Given the description of an element on the screen output the (x, y) to click on. 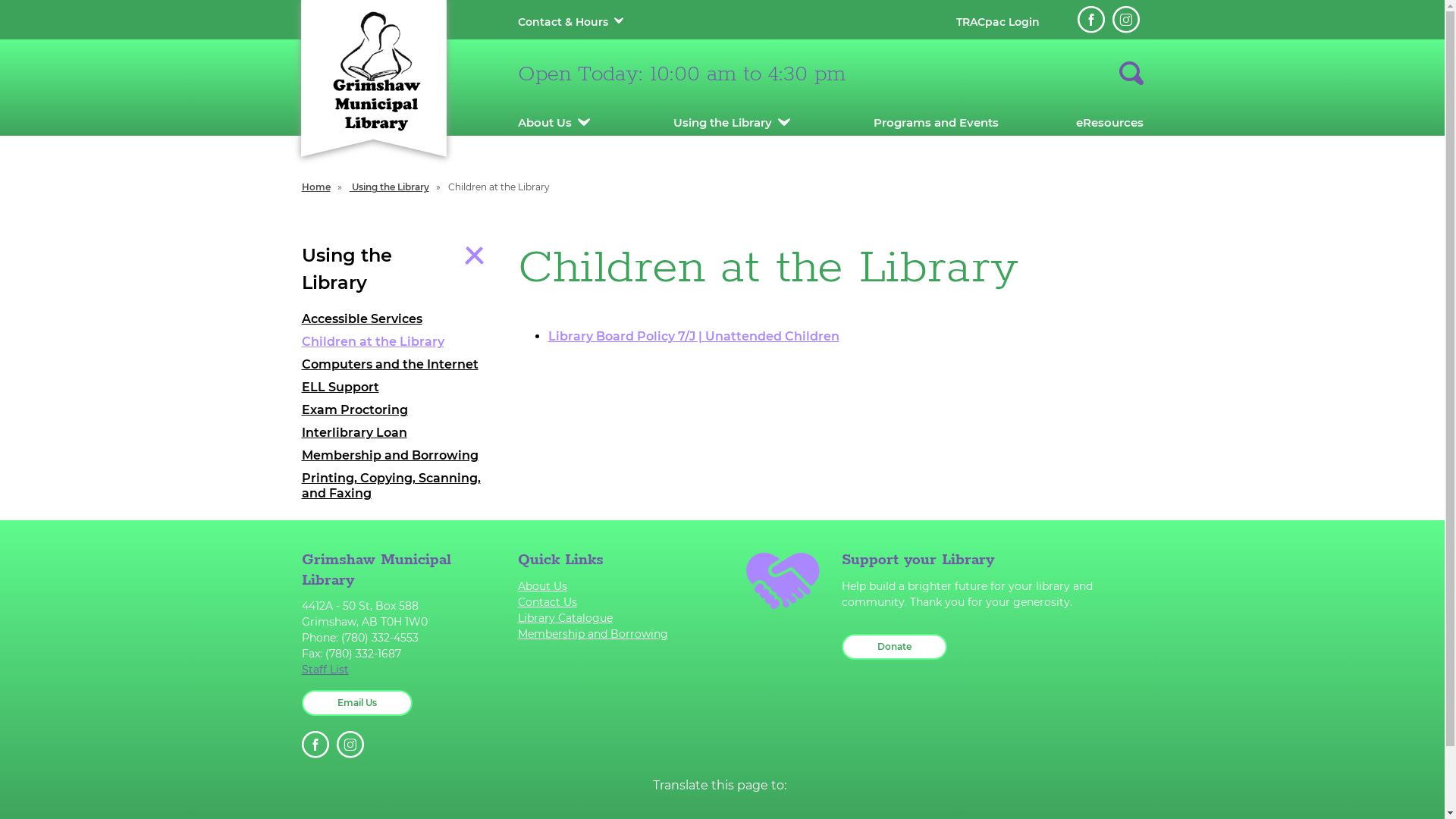
Staff List Element type: text (398, 669)
Computers and the Internet Element type: text (398, 364)
Using the Library Element type: text (722, 122)
eResources Element type: text (1108, 122)
Donate Element type: text (894, 646)
Membership and Borrowing Element type: text (613, 634)
Email Us Element type: text (356, 702)
About Us Element type: text (544, 122)
Facebook Element type: hover (315, 744)
Children at the Library Element type: text (398, 341)
Instagram Element type: hover (1125, 19)
Using the Library
Toggle navigation Element type: text (398, 268)
Instagram Element type: hover (350, 744)
Accessible Services Element type: text (398, 318)
ELL Support Element type: text (398, 387)
Programs and Events Element type: text (935, 122)
Home Element type: text (315, 186)
Membership and Borrowing Element type: text (398, 455)
Library Catalogue Element type: text (613, 618)
Printing, Copying, Scanning, and Faxing Element type: text (398, 486)
Interlibrary Loan Element type: text (398, 432)
Facebook Element type: hover (1090, 19)
Exam Proctoring Element type: text (398, 409)
Grimshaw Municipal Library Element type: hover (372, 69)
Contact & Hours Element type: text (562, 21)
About Us Element type: text (613, 586)
Contact Us Element type: text (613, 602)
Library Board Policy 7/J | Unattended Children Element type: text (692, 336)
TRACpac Login Element type: text (996, 21)
Using the Library Element type: text (389, 186)
